Given the description of an element on the screen output the (x, y) to click on. 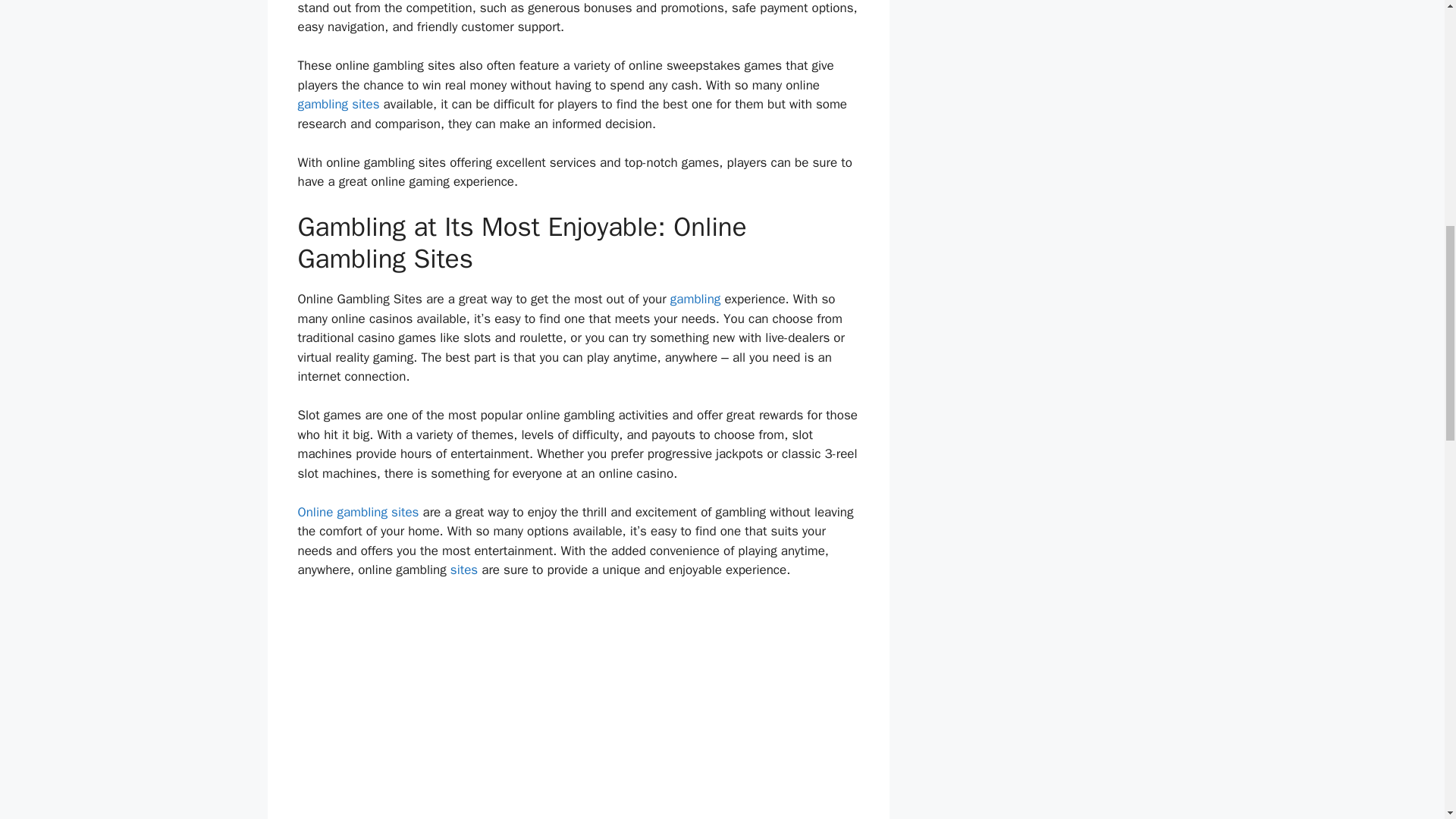
Online gambling sites (358, 512)
Chinese New Year  I  Orion Stars (578, 708)
gambling (694, 299)
gambling sites (337, 104)
sites (463, 569)
